Given the description of an element on the screen output the (x, y) to click on. 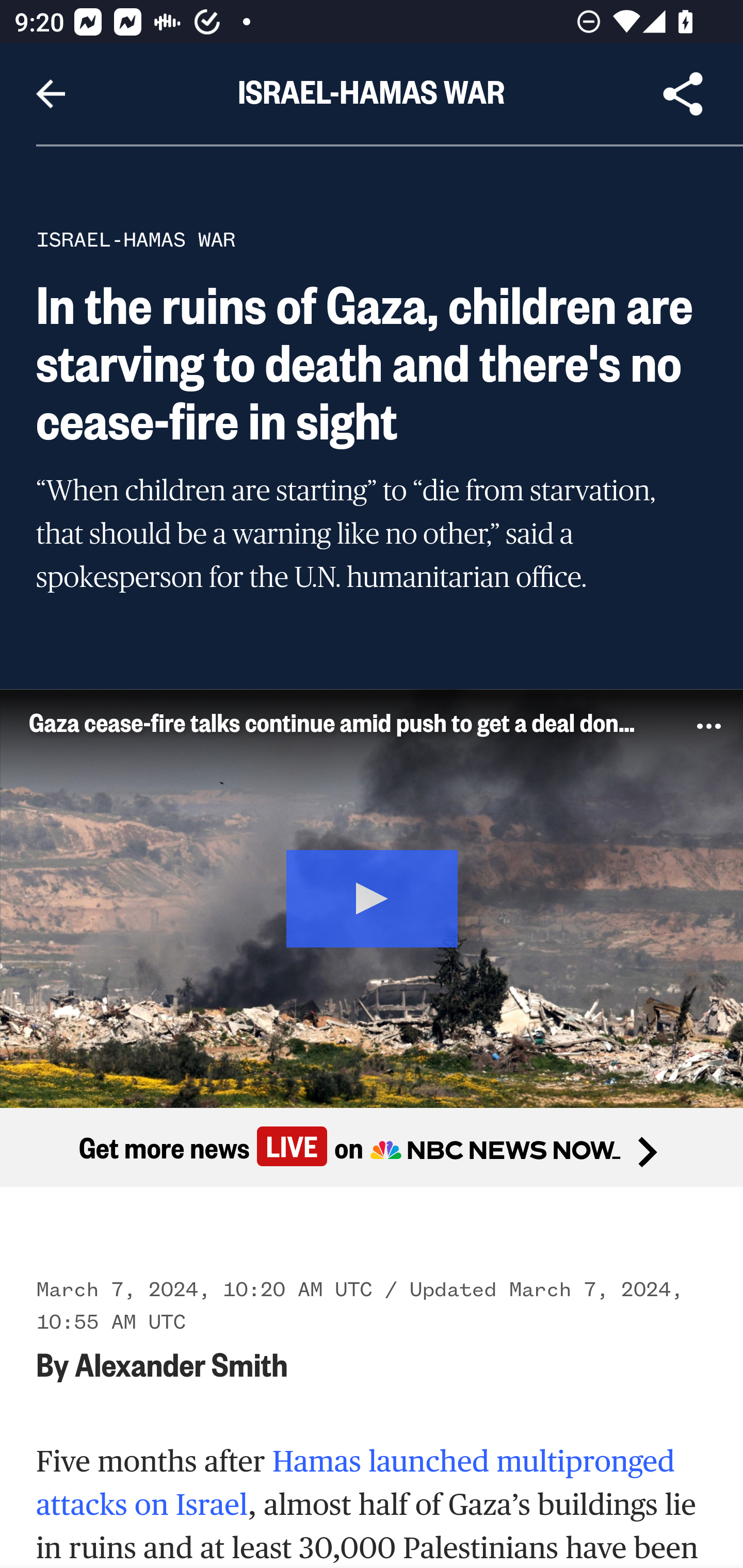
Navigate up (50, 93)
Share Article, button (683, 94)
ISRAEL-HAMAS WAR (136, 239)
Video Player Unable to play media. Play   (371, 897)
Get more news Live on Get more news Live on (371, 1147)
Hamas launched multipronged attacks on Israel (355, 1484)
